Given the description of an element on the screen output the (x, y) to click on. 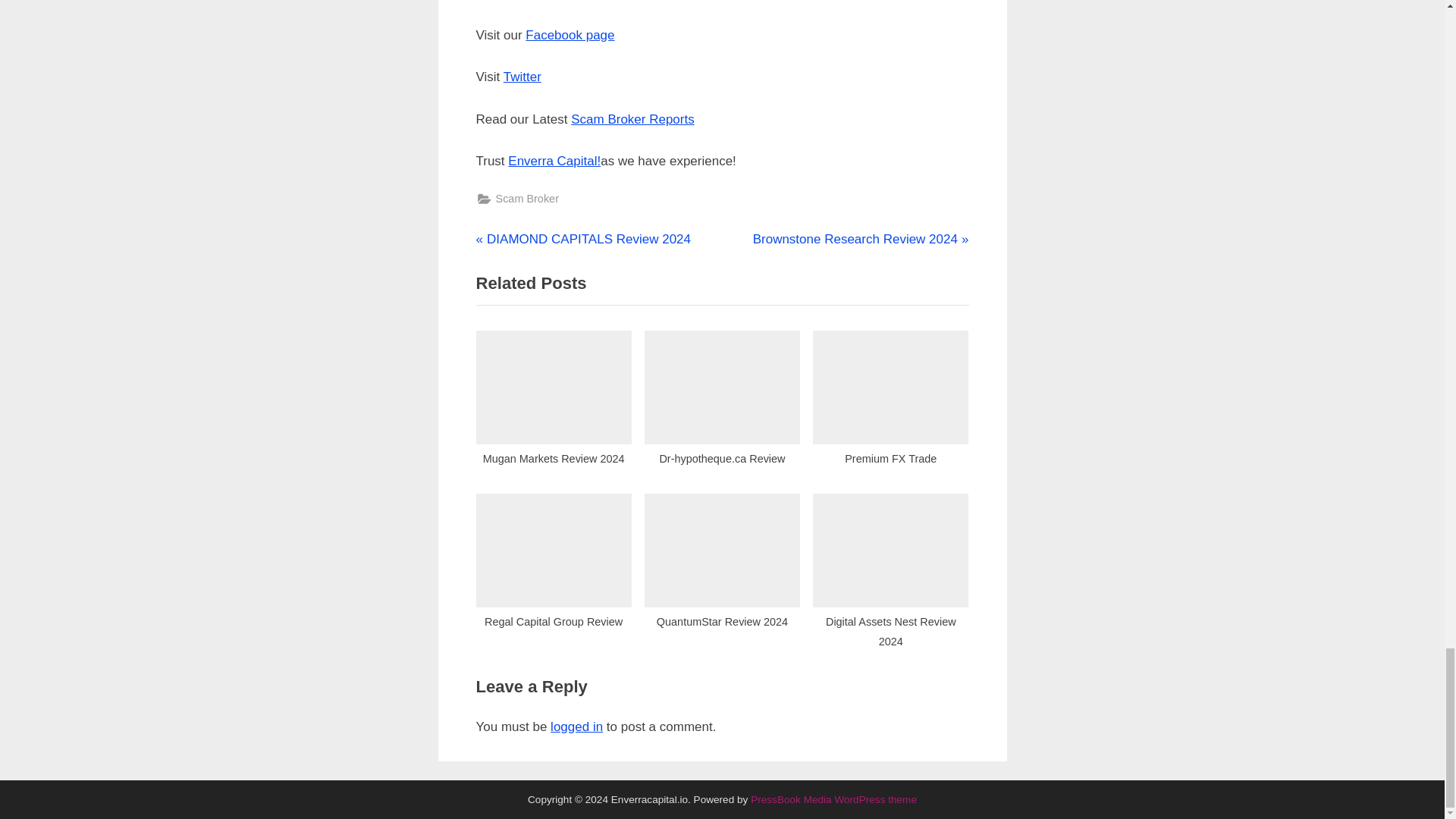
logged in (576, 726)
Scam Broker (527, 198)
PressBook Media WordPress theme (834, 799)
Scam Broker Reports (632, 119)
Twitter (522, 76)
Enverra Capital! (553, 160)
Dr-hypotheque.ca Review (722, 402)
Mugan Markets Review 2024 (583, 238)
QuantumStar Review 2024 (553, 402)
